Given the description of an element on the screen output the (x, y) to click on. 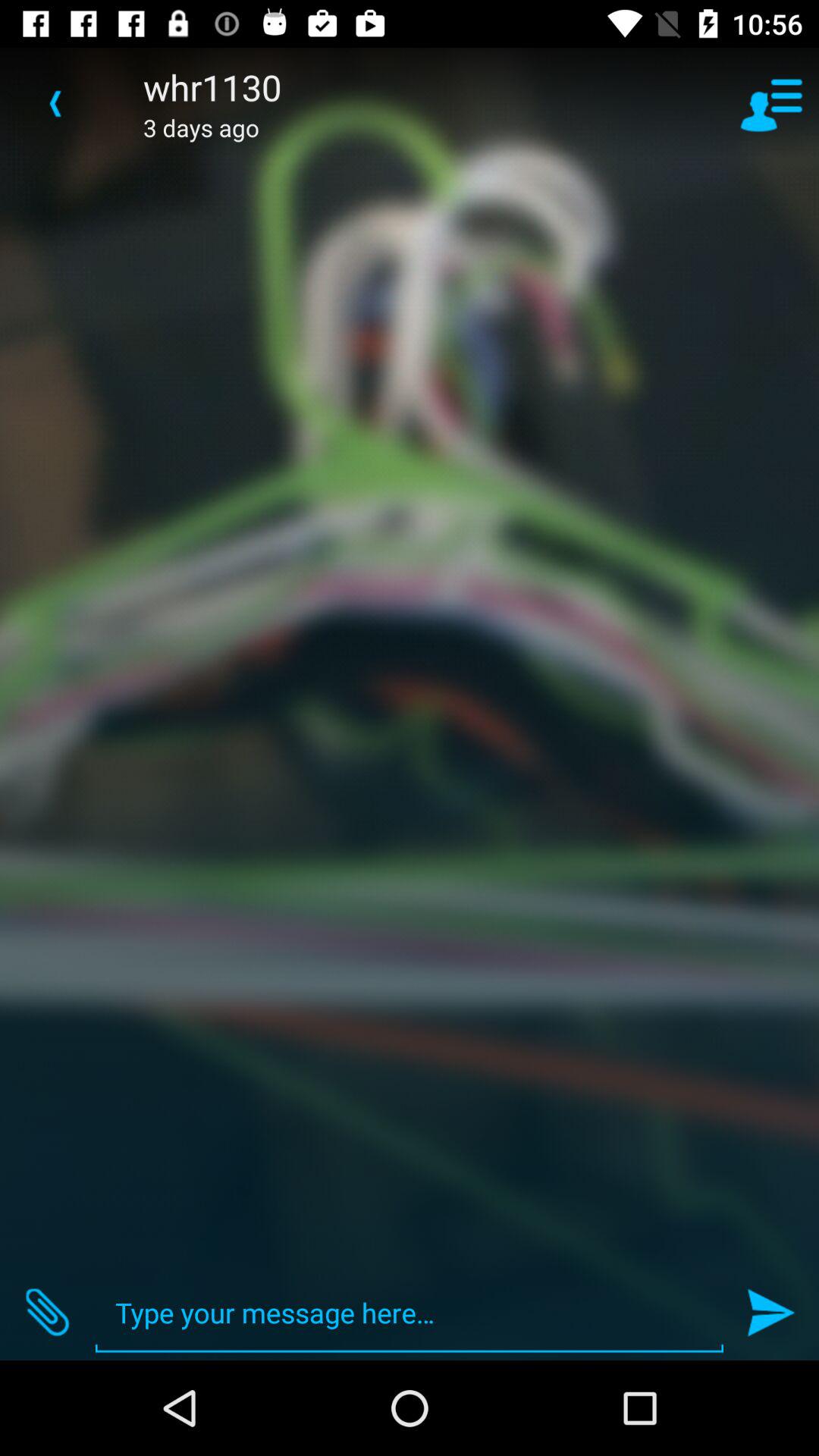
turn on the item at the bottom right corner (771, 1312)
